Given the description of an element on the screen output the (x, y) to click on. 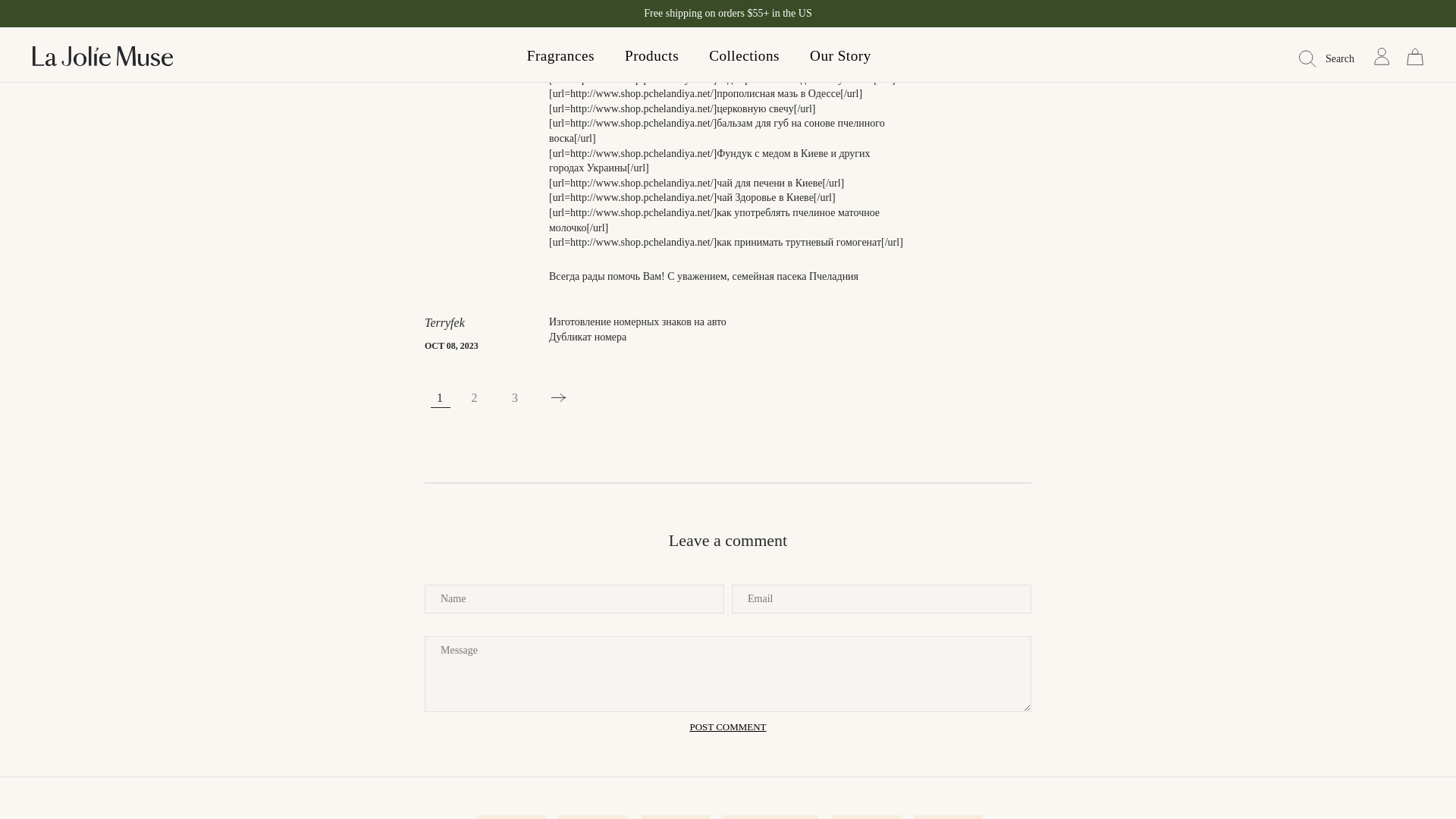
Post comment (726, 726)
